Given the description of an element on the screen output the (x, y) to click on. 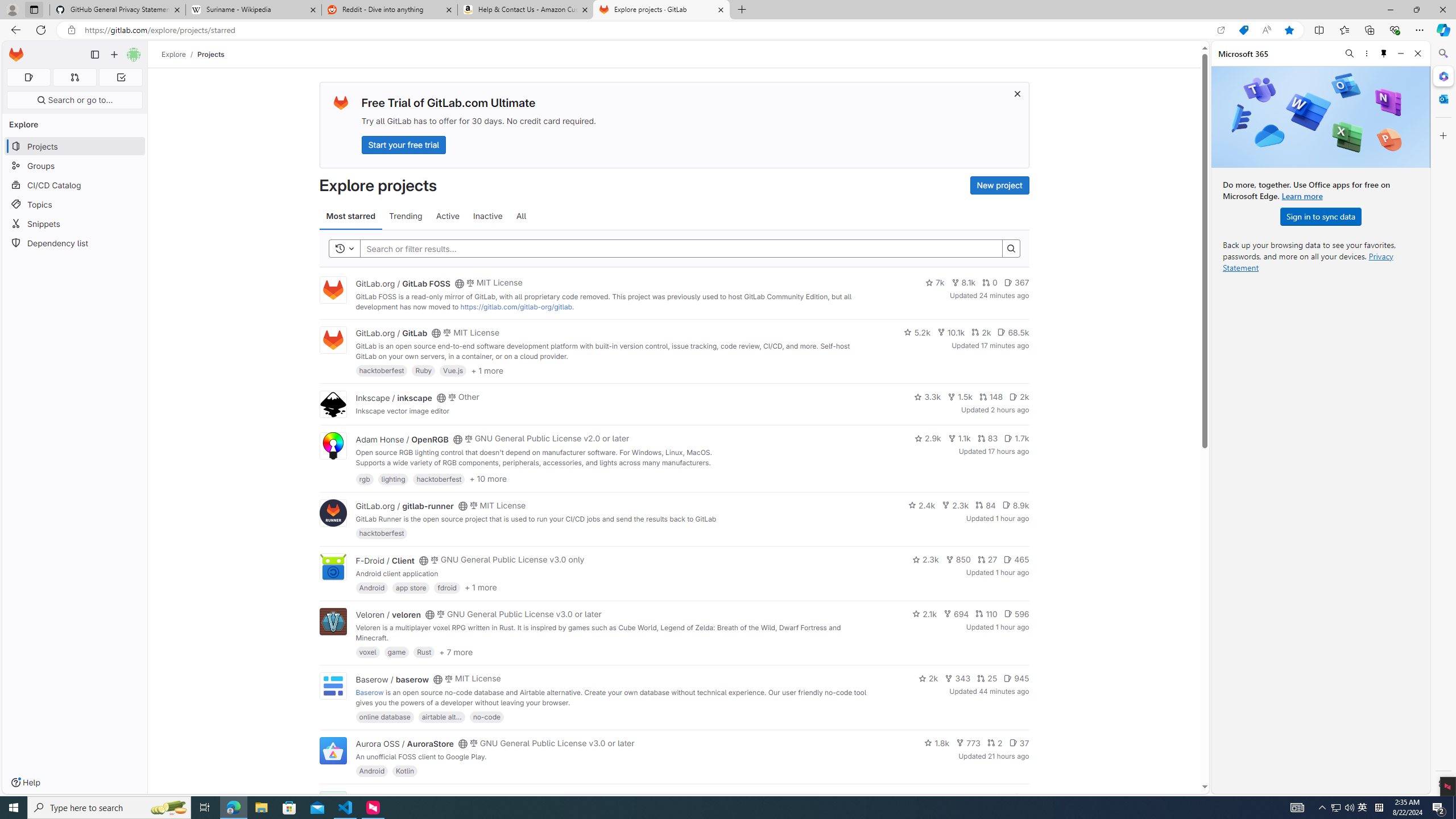
Projects (211, 53)
Snippets (74, 223)
Learn more about Microsoft Office. (1302, 195)
GitLab.org / gitlab-runner (404, 506)
no-code (486, 715)
110 (986, 613)
7k (934, 282)
84 (985, 504)
10.1k (950, 331)
Start your free trial (403, 144)
Snippets (74, 223)
2k (928, 678)
